Given the description of an element on the screen output the (x, y) to click on. 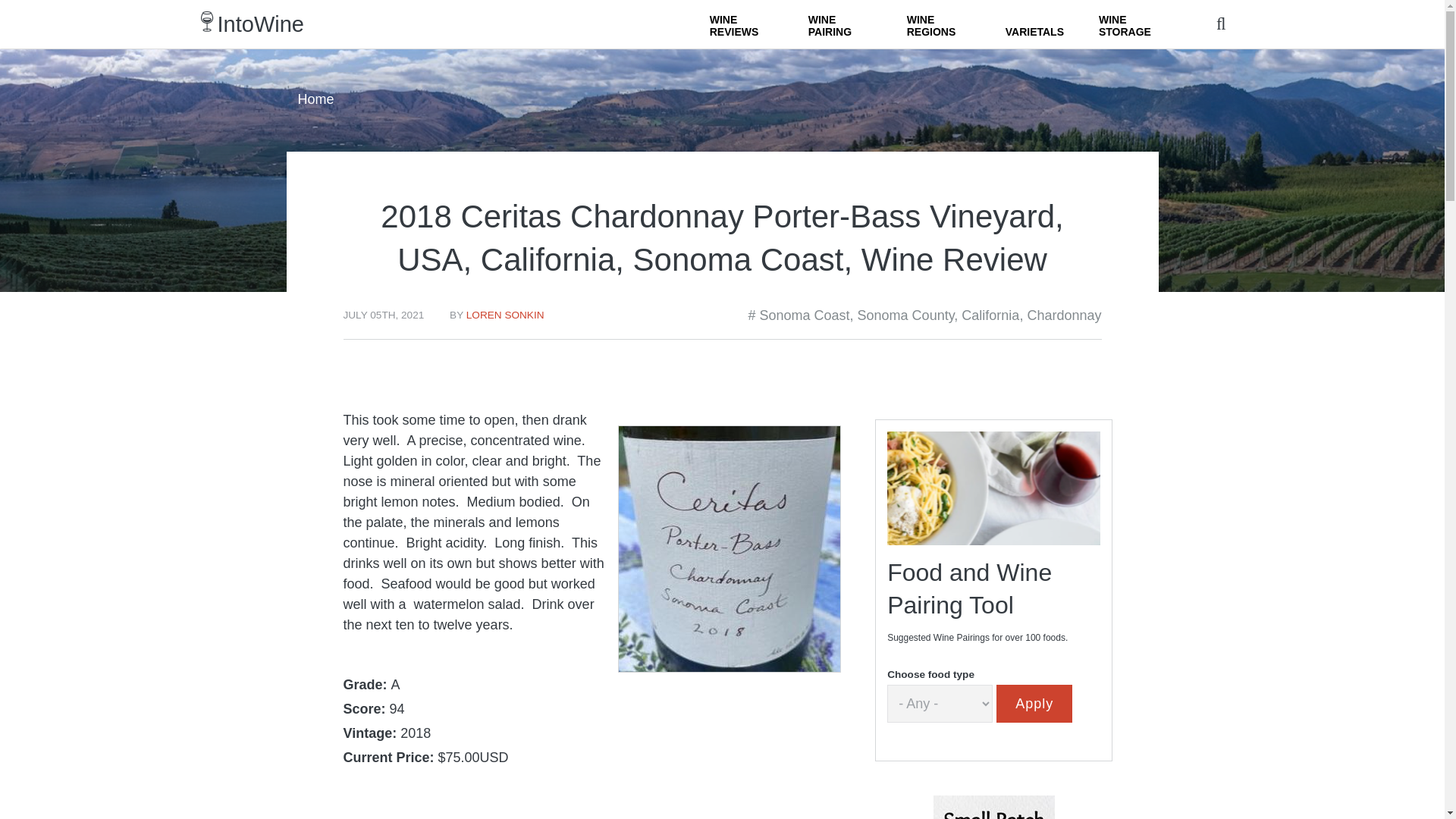
WINE PAIRING (839, 24)
Varietals (1034, 24)
Chardonnay (1063, 314)
Apply (1033, 703)
Sonoma County (906, 314)
WINE REVIEWS (741, 24)
Wine Pairing (839, 24)
IntoWine (260, 24)
View user profile. (504, 315)
Wine Storage (1130, 24)
Search (907, 51)
Apply (1033, 703)
VARIETALS (1034, 24)
California (989, 314)
LOREN SONKIN (504, 315)
